Given the description of an element on the screen output the (x, y) to click on. 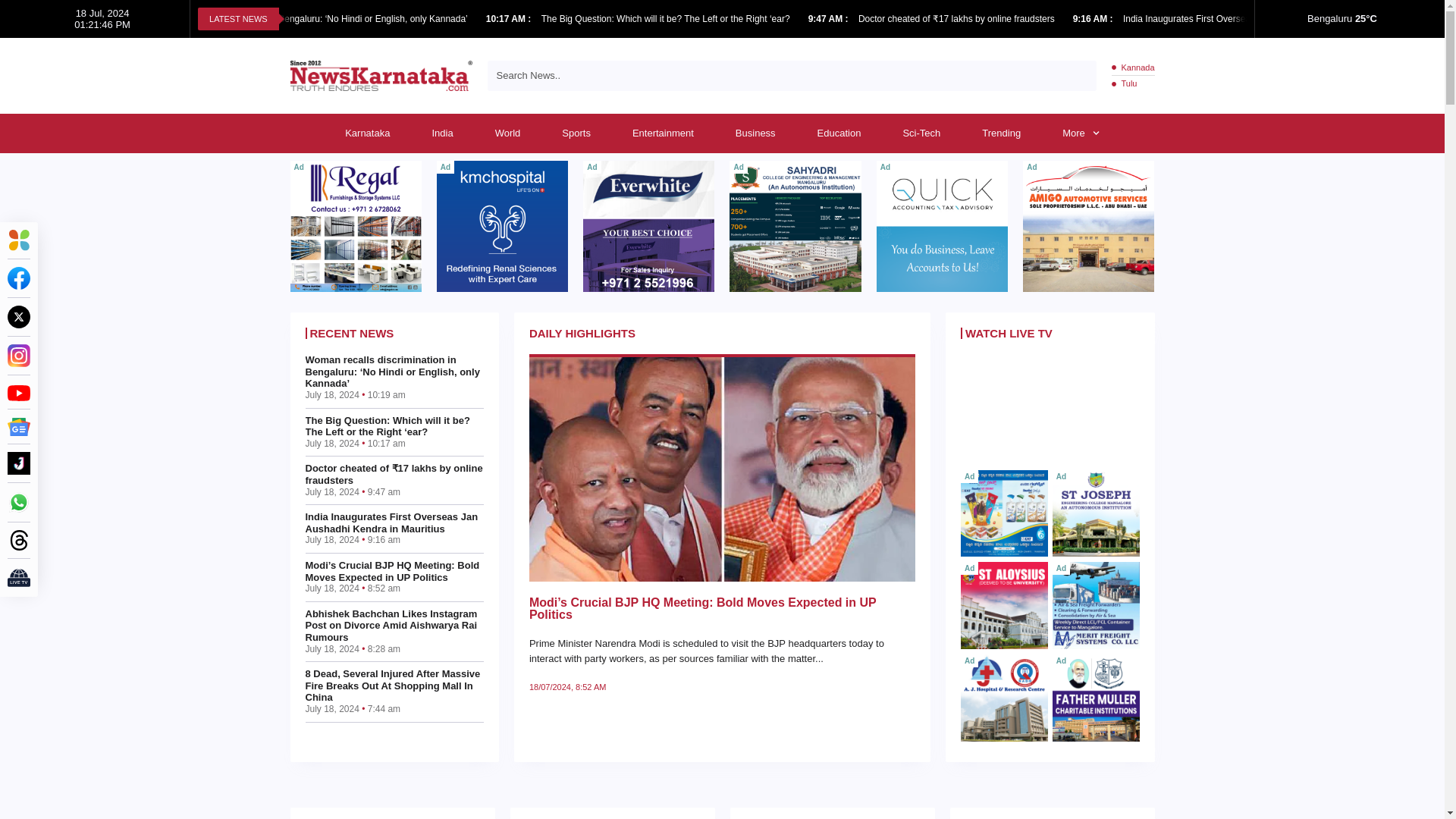
Published on: July 18, 2024 9:47 am (829, 18)
Published on: July 18, 2024 10:17 am (510, 18)
Published on: July 18, 2024 9:16 am (1094, 18)
